Given the description of an element on the screen output the (x, y) to click on. 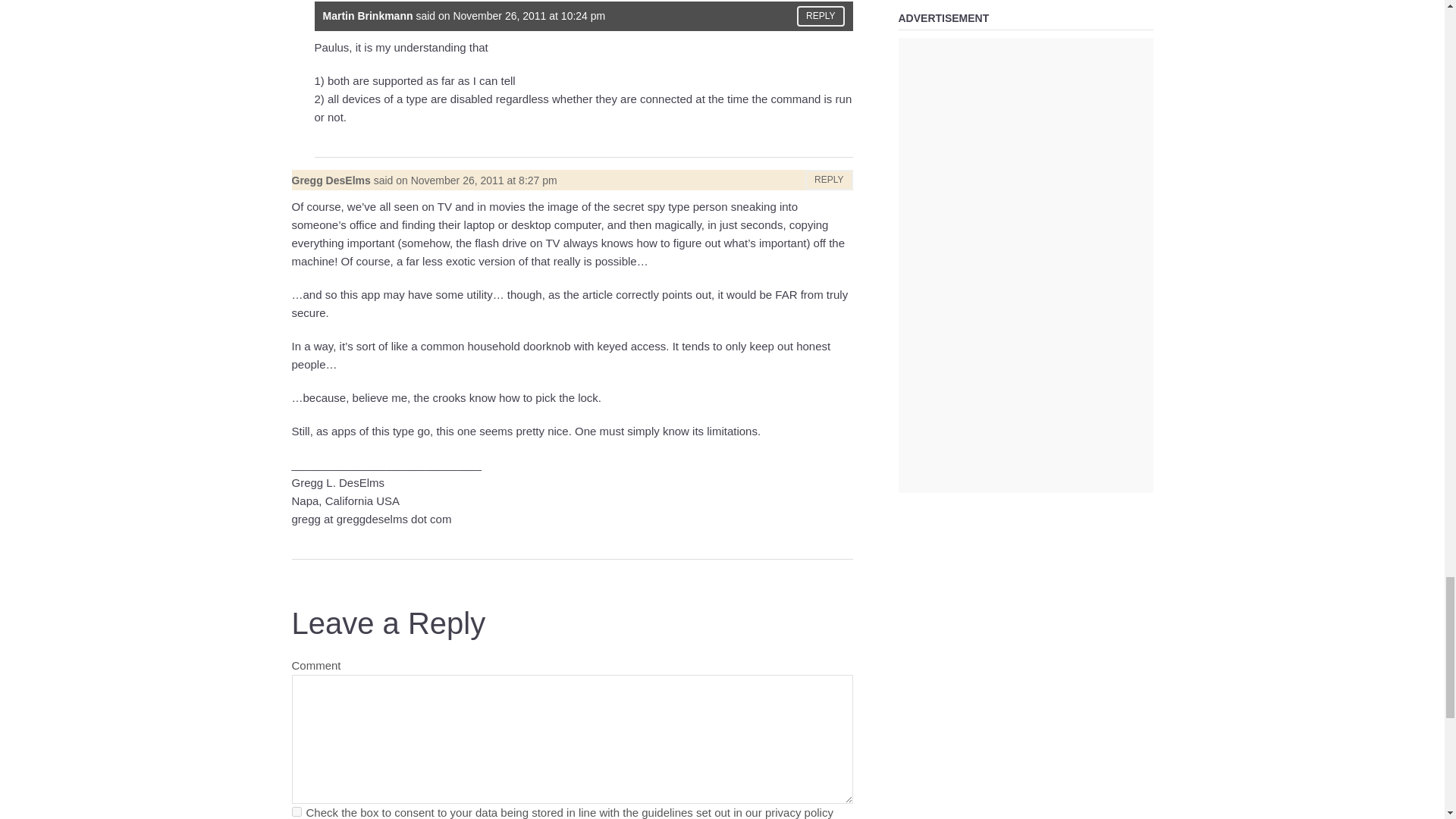
privacy-key (296, 811)
